Given the description of an element on the screen output the (x, y) to click on. 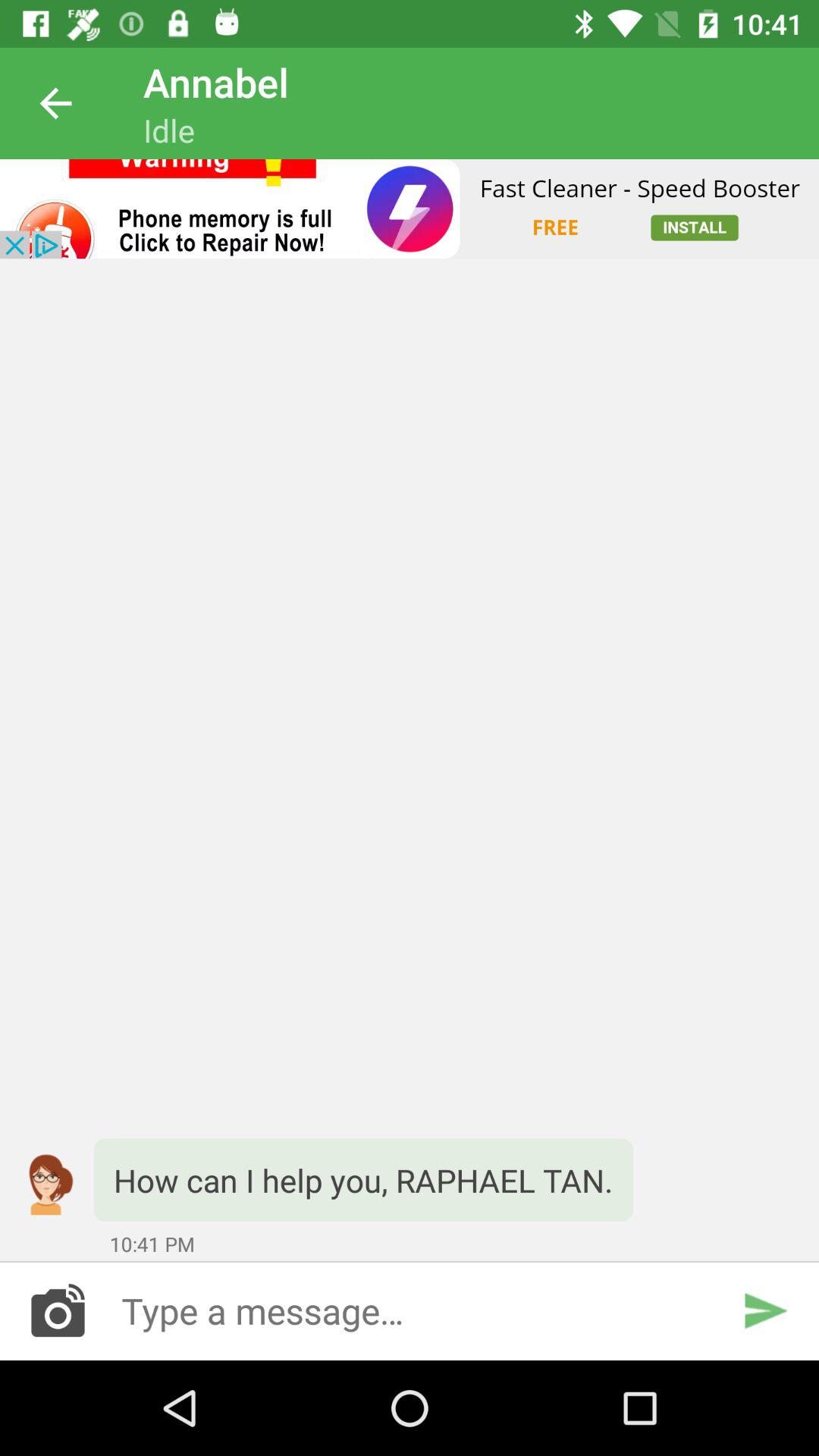
select the add link (409, 208)
